Given the description of an element on the screen output the (x, y) to click on. 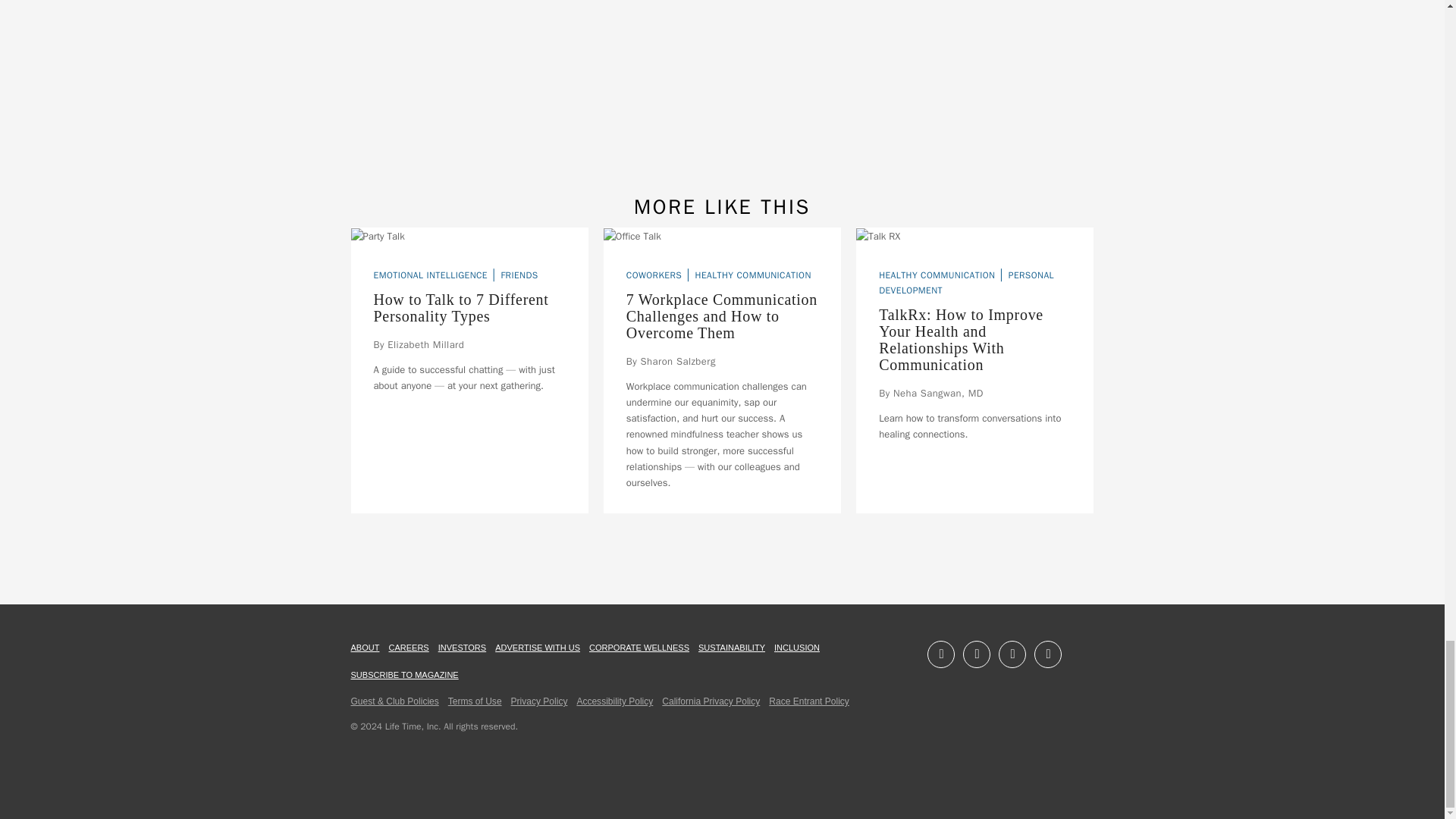
Twitter (1047, 654)
Facebook (941, 654)
Instagram (976, 654)
YouTube (1012, 654)
